Given the description of an element on the screen output the (x, y) to click on. 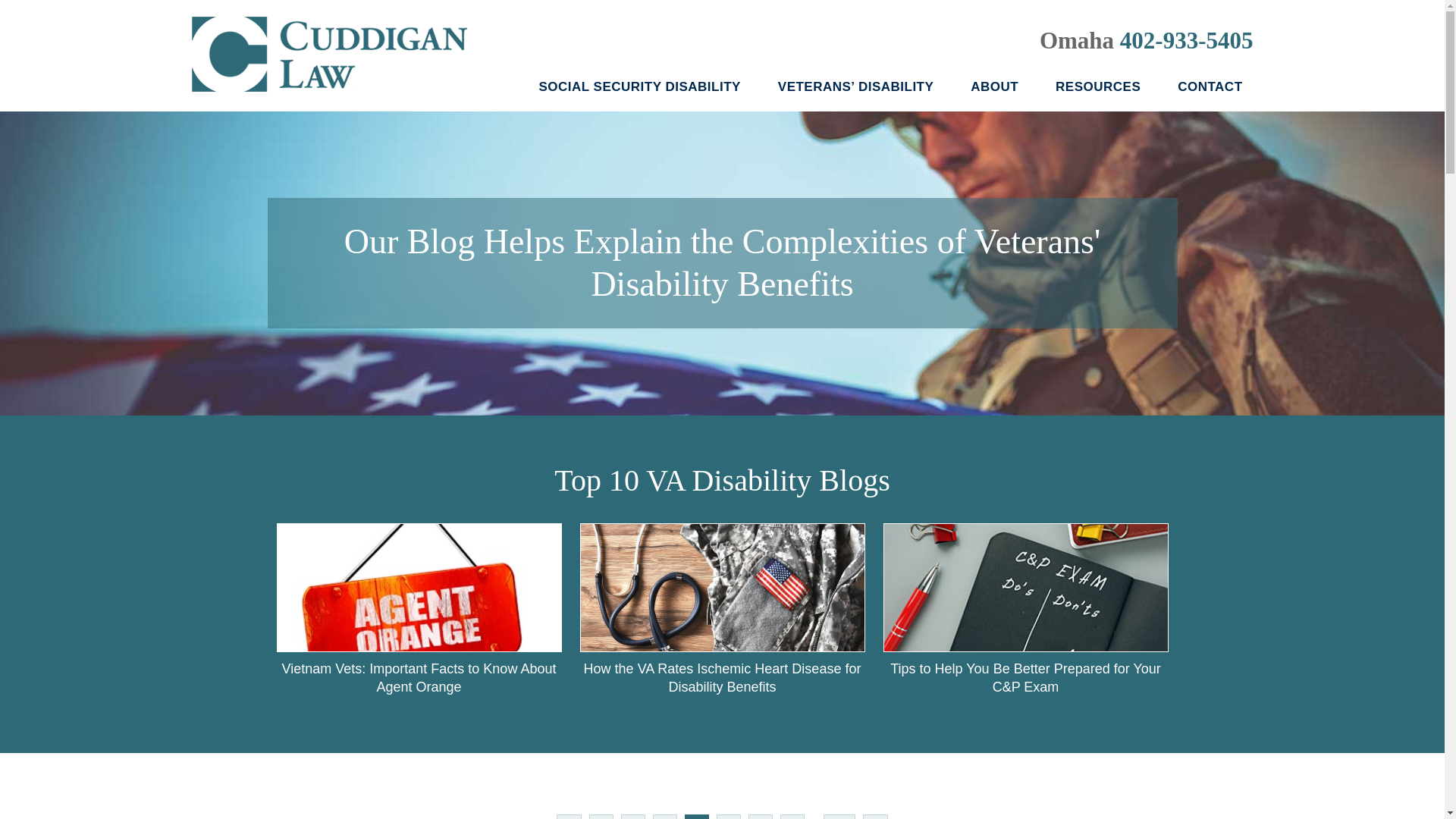
CONTACT (1209, 89)
ABOUT (994, 89)
SOCIAL SECURITY DISABILITY (638, 89)
RESOURCES (1097, 89)
